Given the description of an element on the screen output the (x, y) to click on. 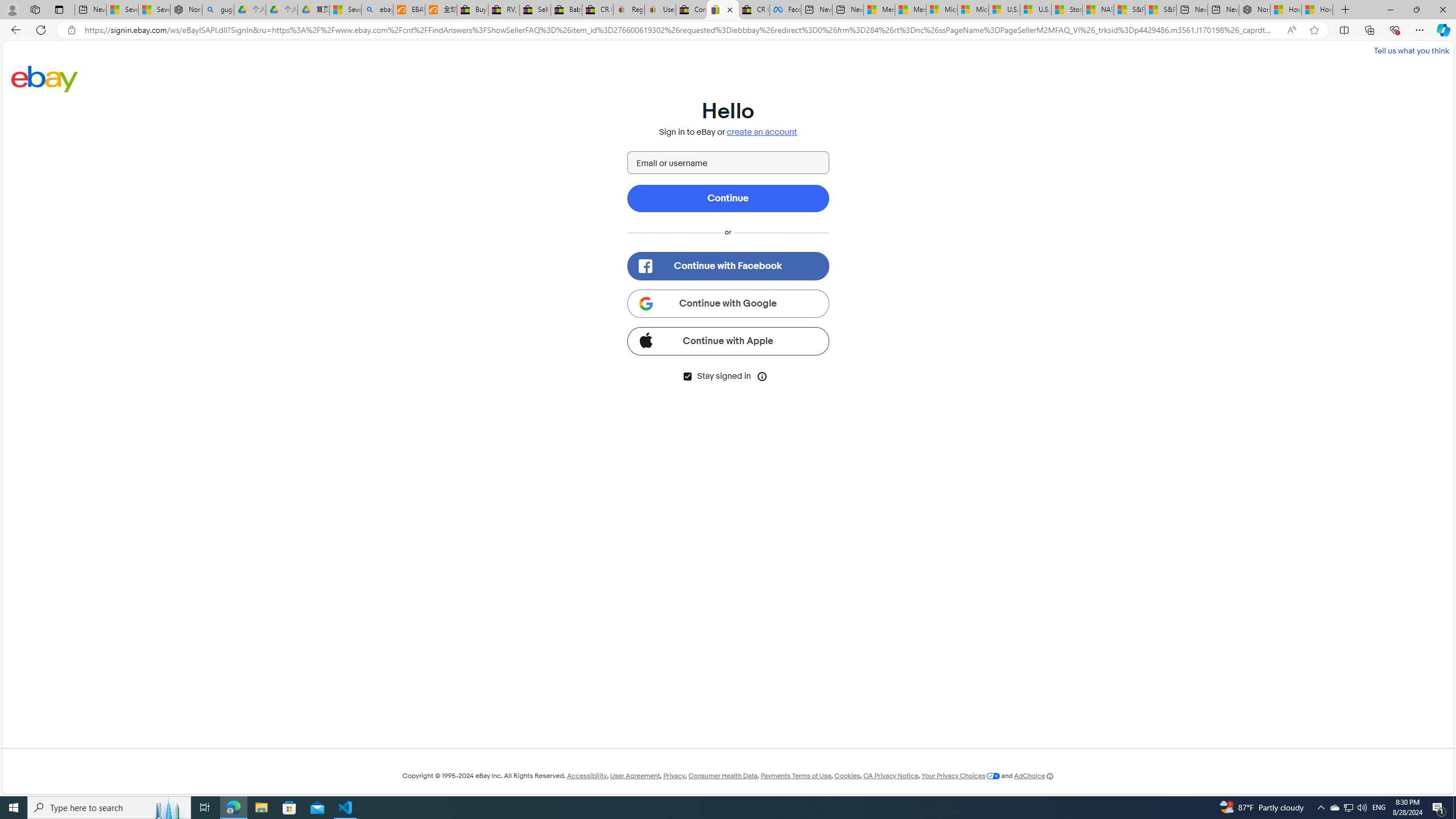
Privacy (673, 775)
To get missing image descriptions, open the context menu. (645, 303)
Email or username (727, 162)
S&P 500, Nasdaq end lower, weighed by Nvidia dip | Watch (1160, 9)
create an account (761, 131)
Register: Create a personal eBay account (628, 9)
Class: apple-icon (645, 339)
